Given the description of an element on the screen output the (x, y) to click on. 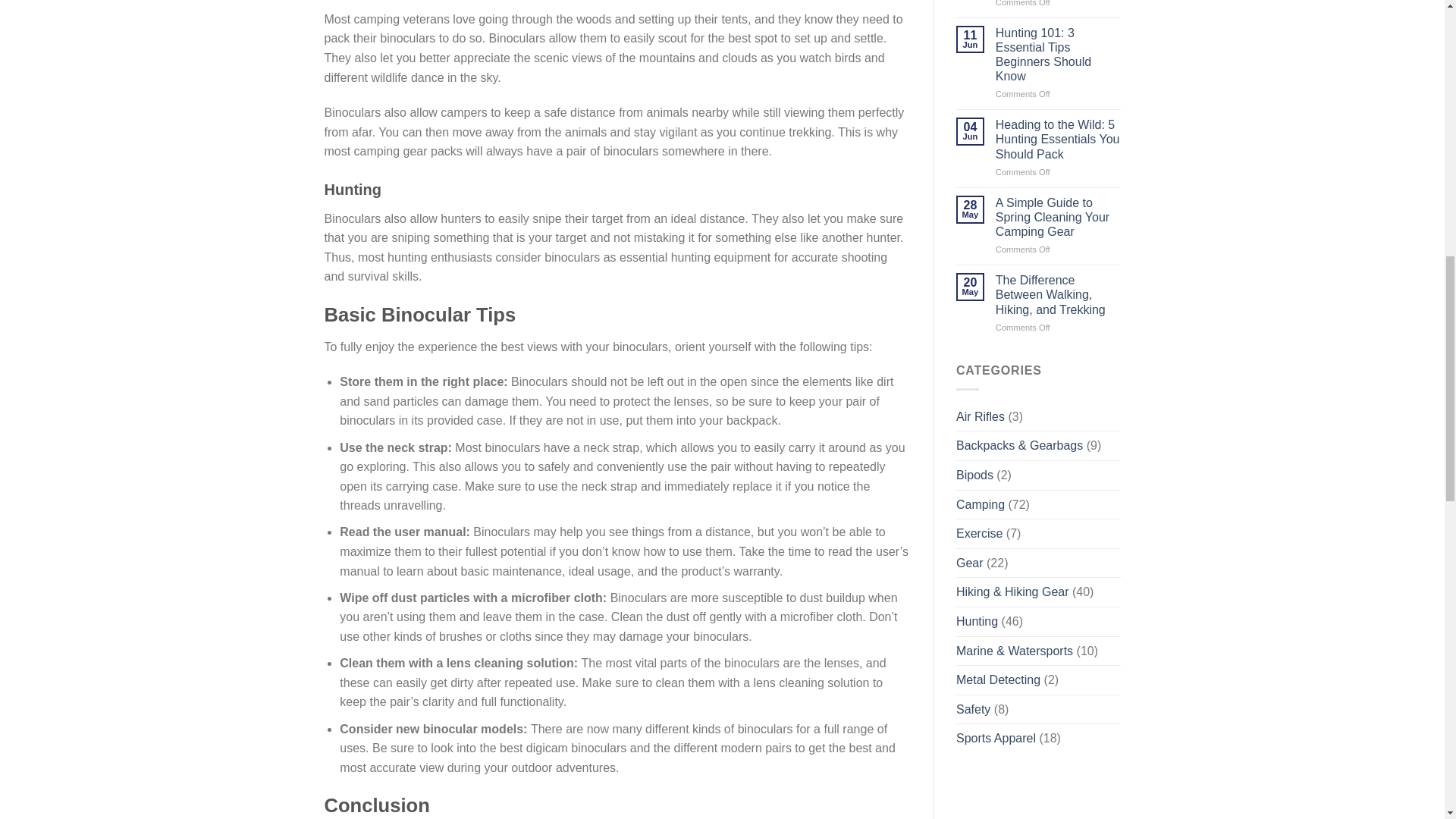
A Simple Guide to Spring Cleaning Your Camping Gear (1058, 217)
Heading to the Wild: 5 Hunting Essentials You Should Pack (1058, 139)
Hunting 101: 3 Essential Tips Beginners Should Know (1058, 54)
